Given the description of an element on the screen output the (x, y) to click on. 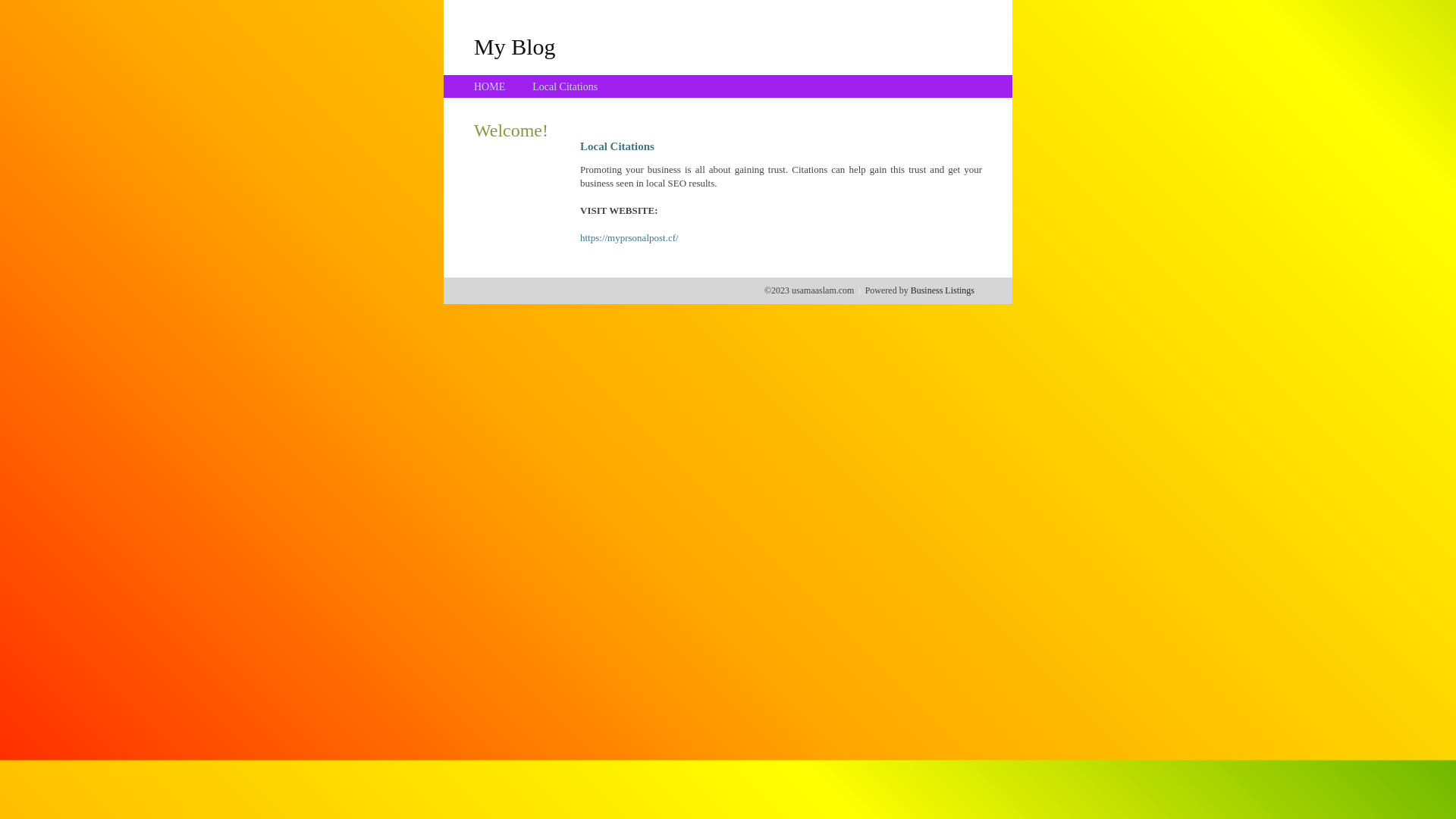
https://myprsonalpost.cf/ Element type: text (629, 237)
Business Listings Element type: text (942, 290)
HOME Element type: text (489, 86)
My Blog Element type: text (514, 46)
Local Citations Element type: text (564, 86)
